Given the description of an element on the screen output the (x, y) to click on. 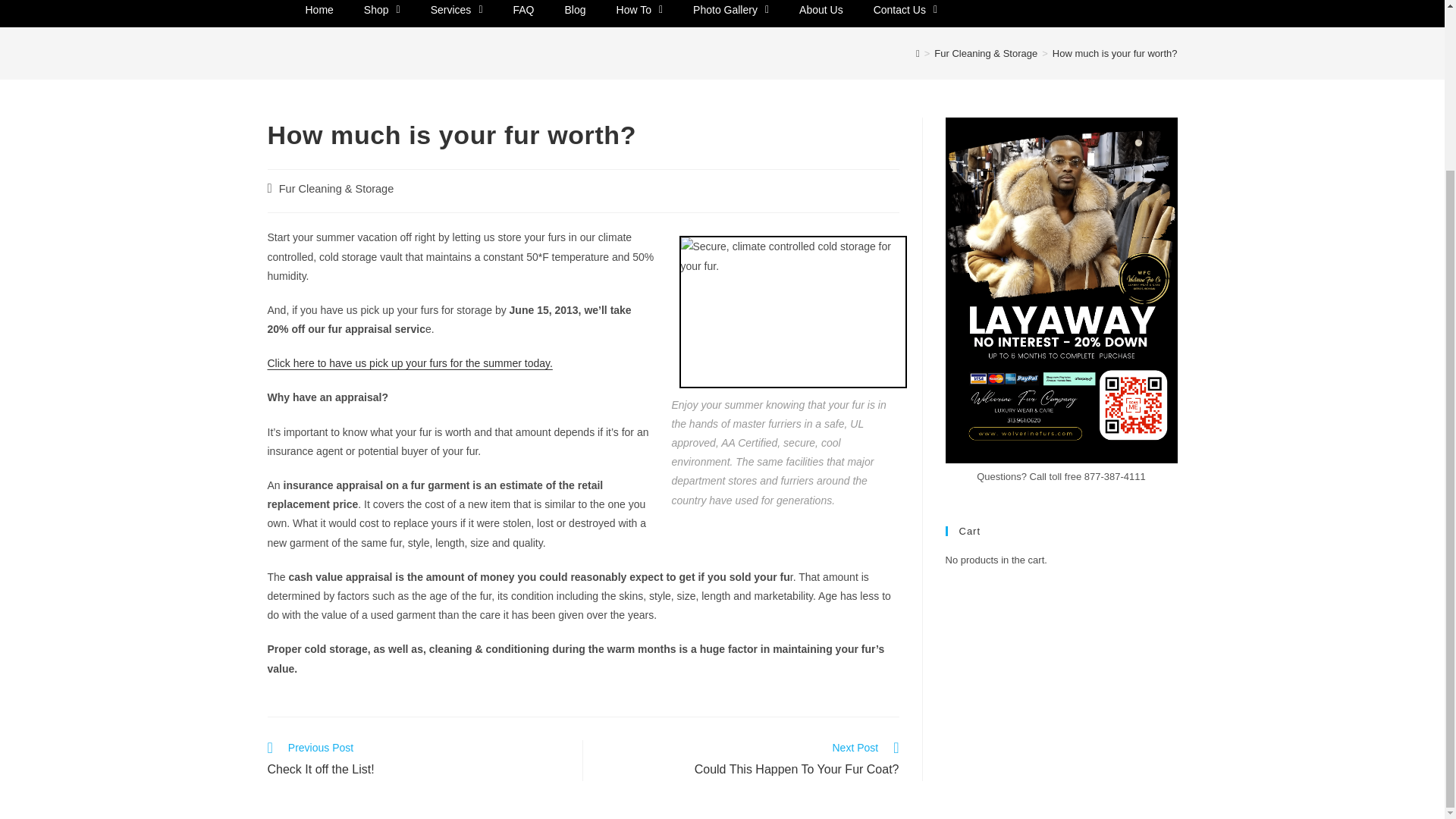
Home (318, 13)
Log In (981, 596)
How To (639, 13)
FAQ (522, 13)
RSS Feed: Wolverine Furs Posts (1133, 596)
Shop (381, 13)
Blog (575, 13)
Services (455, 13)
Wolverine Fur Company Climate Controlled Cold Storage vault. (793, 311)
Service Order Form (408, 363)
